Given the description of an element on the screen output the (x, y) to click on. 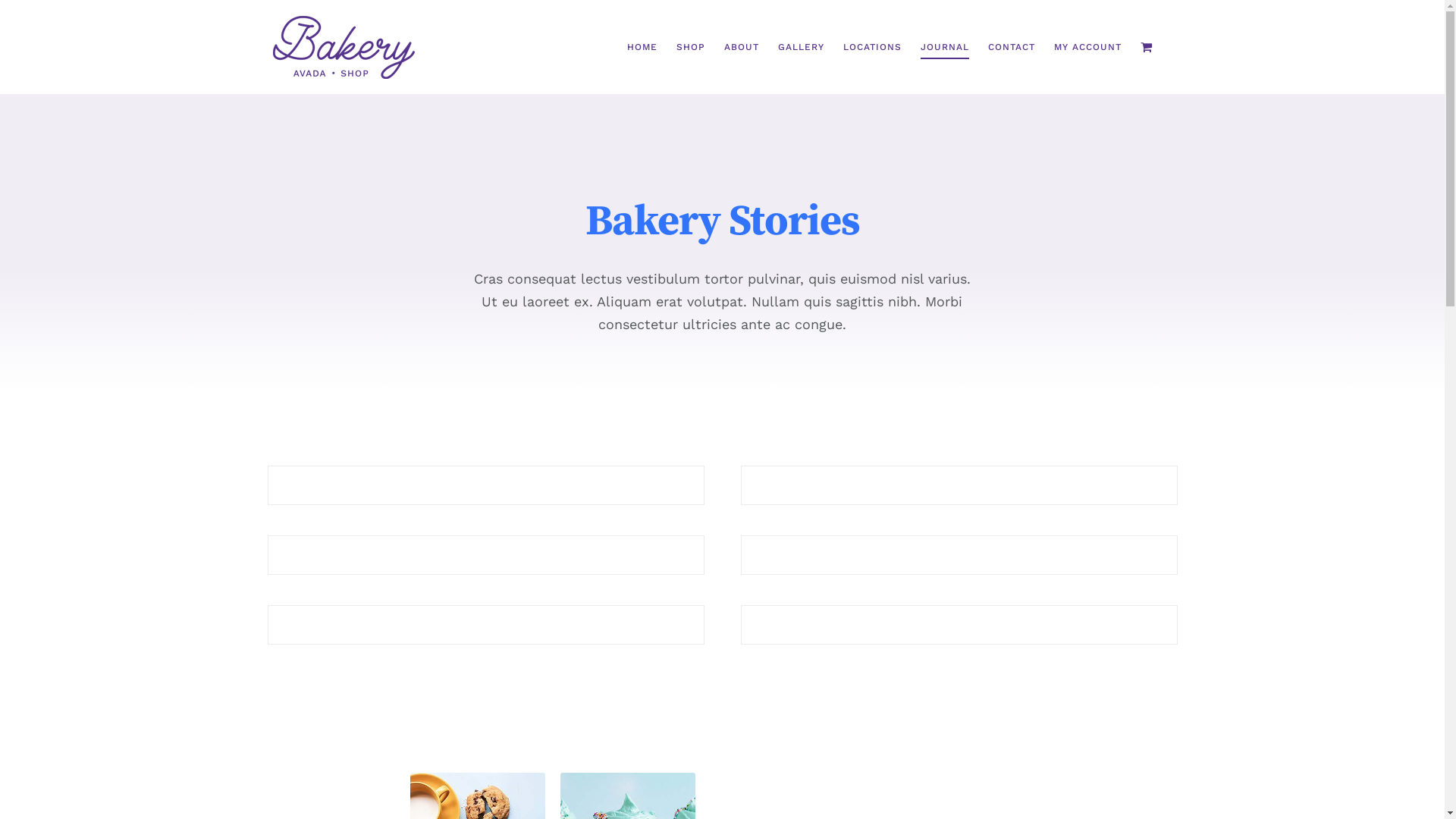
JOURNAL Element type: text (944, 46)
ABOUT Element type: text (740, 46)
LOCATIONS Element type: text (872, 46)
Log In Element type: text (1150, 229)
HOME Element type: text (641, 46)
MY ACCOUNT Element type: text (1087, 46)
GALLERY Element type: text (801, 46)
SHOP Element type: text (690, 46)
CONTACT Element type: text (1010, 46)
